Given the description of an element on the screen output the (x, y) to click on. 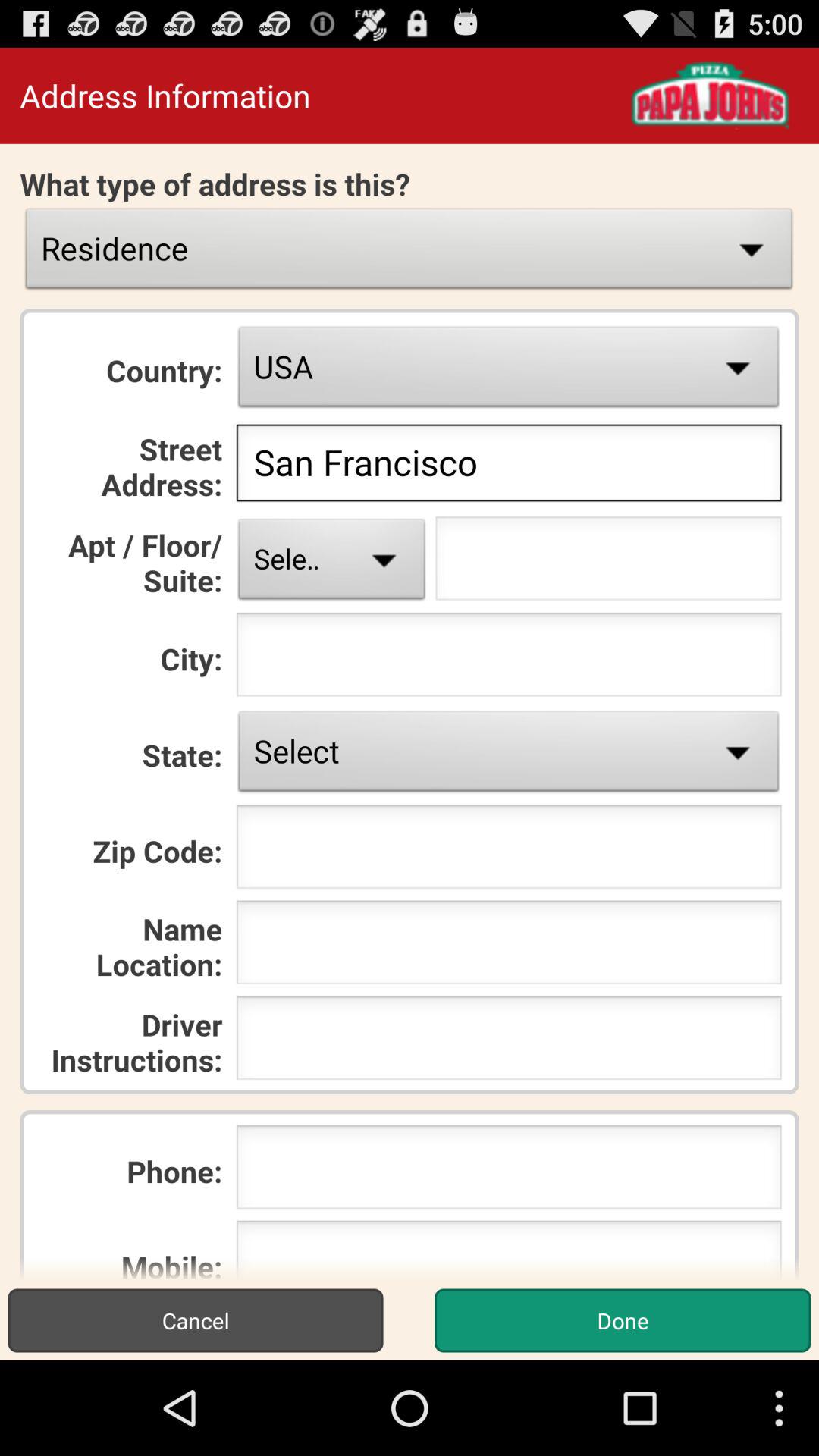
enter apt floor suite number (608, 562)
